Given the description of an element on the screen output the (x, y) to click on. 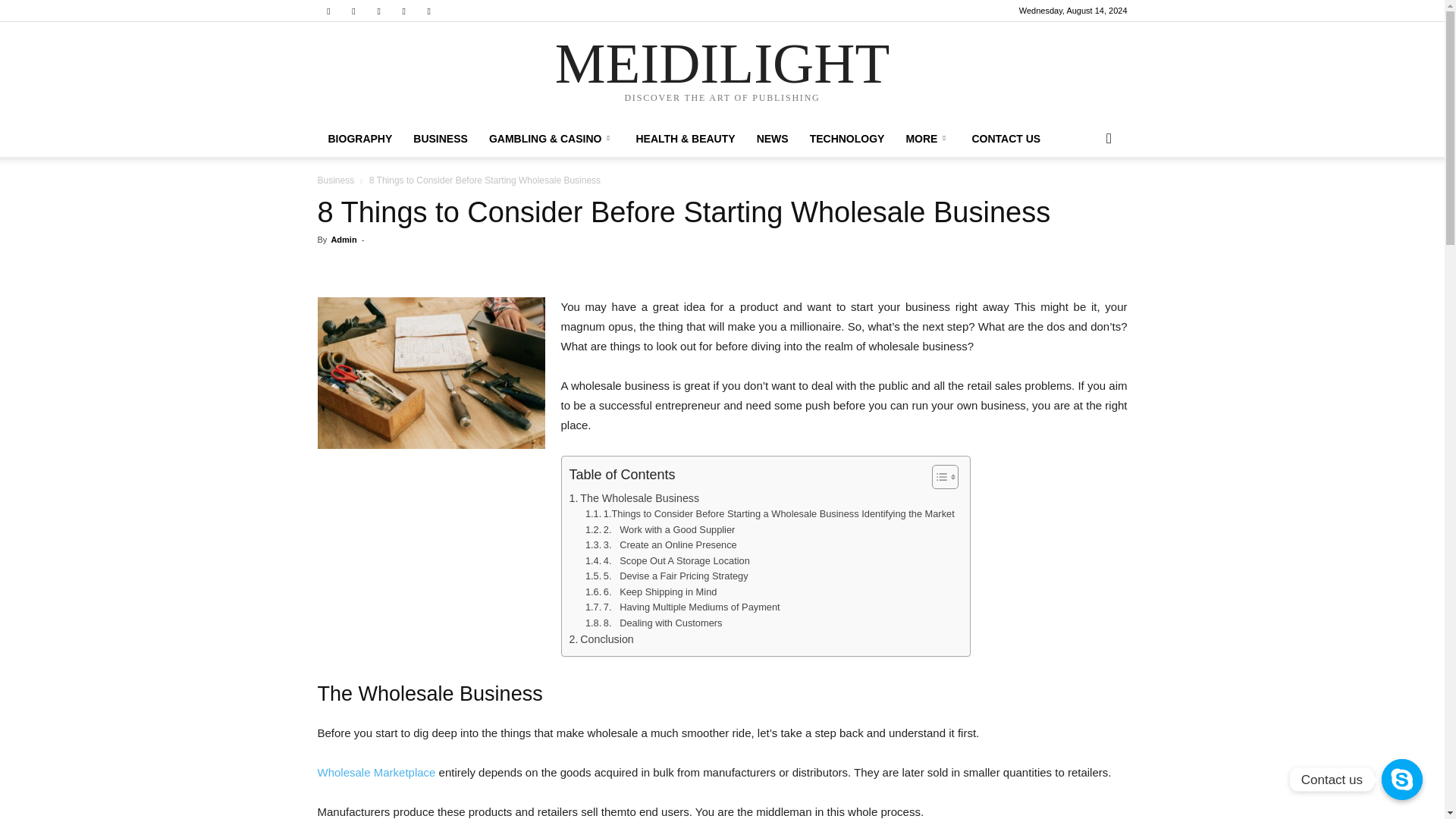
Facebook (328, 10)
NEWS (772, 138)
View all posts in Business (335, 180)
pexels-ivan-samkov-4491875 (430, 372)
MEIDILIGHT DISCOVER THE ART OF PUBLISHING (722, 72)
Twitter (429, 10)
Skype (403, 10)
MORE (927, 138)
RSS (379, 10)
